Given the description of an element on the screen output the (x, y) to click on. 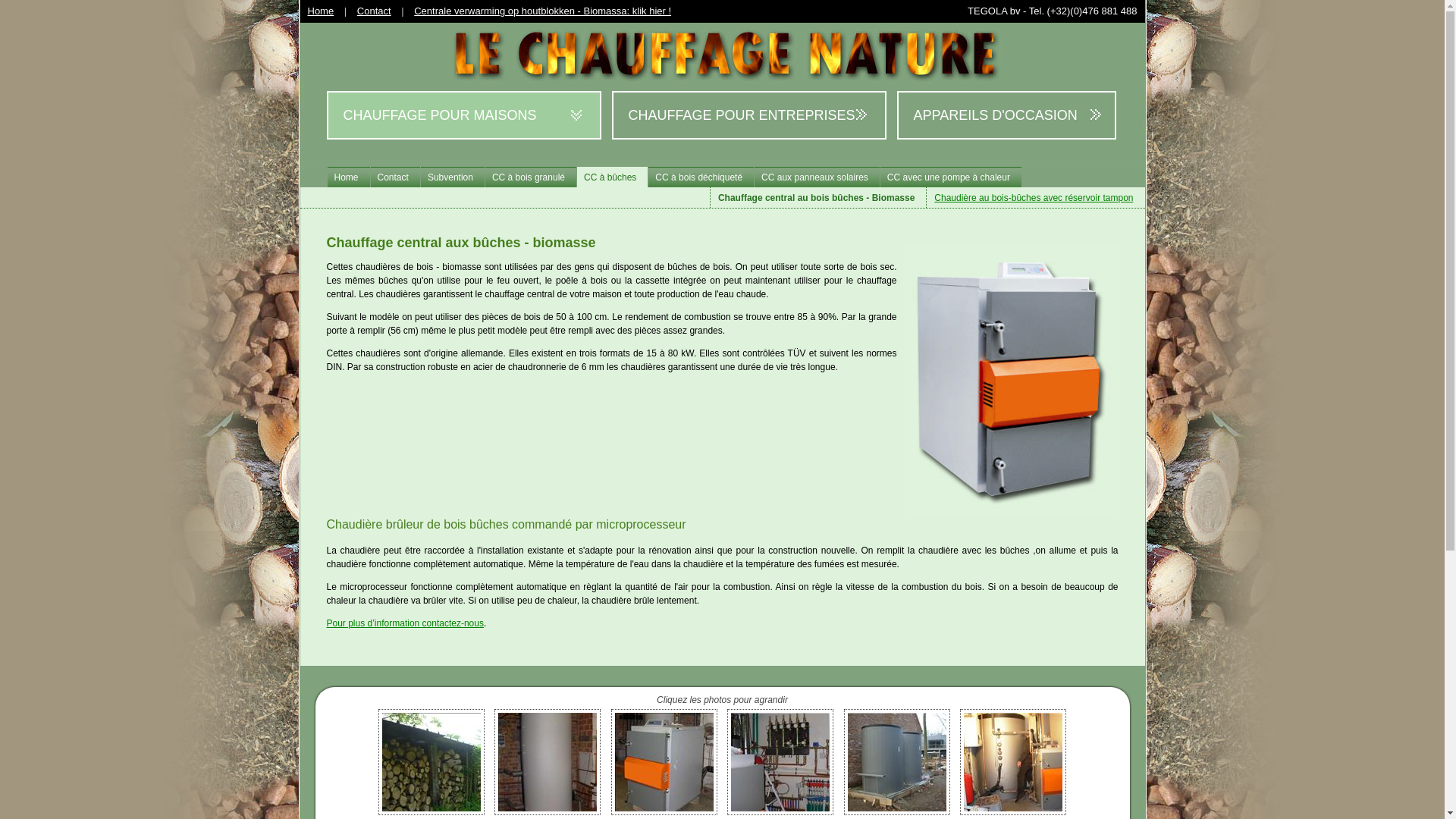
Subvention Element type: text (452, 176)
CHAUFFAGE POUR ENTREPRISES Element type: text (754, 115)
Home Element type: text (347, 176)
CHAUFFAGE POUR MAISONS Element type: text (469, 115)
Centrale verwarming op houtblokken - Biomassa: klik hier ! Element type: text (542, 10)
Home Element type: text (320, 10)
Contact Element type: text (374, 10)
Contact Element type: text (395, 176)
APPAREILS D'OCCASION Element type: text (997, 115)
CC aux panneaux solaires Element type: text (816, 176)
